Given the description of an element on the screen output the (x, y) to click on. 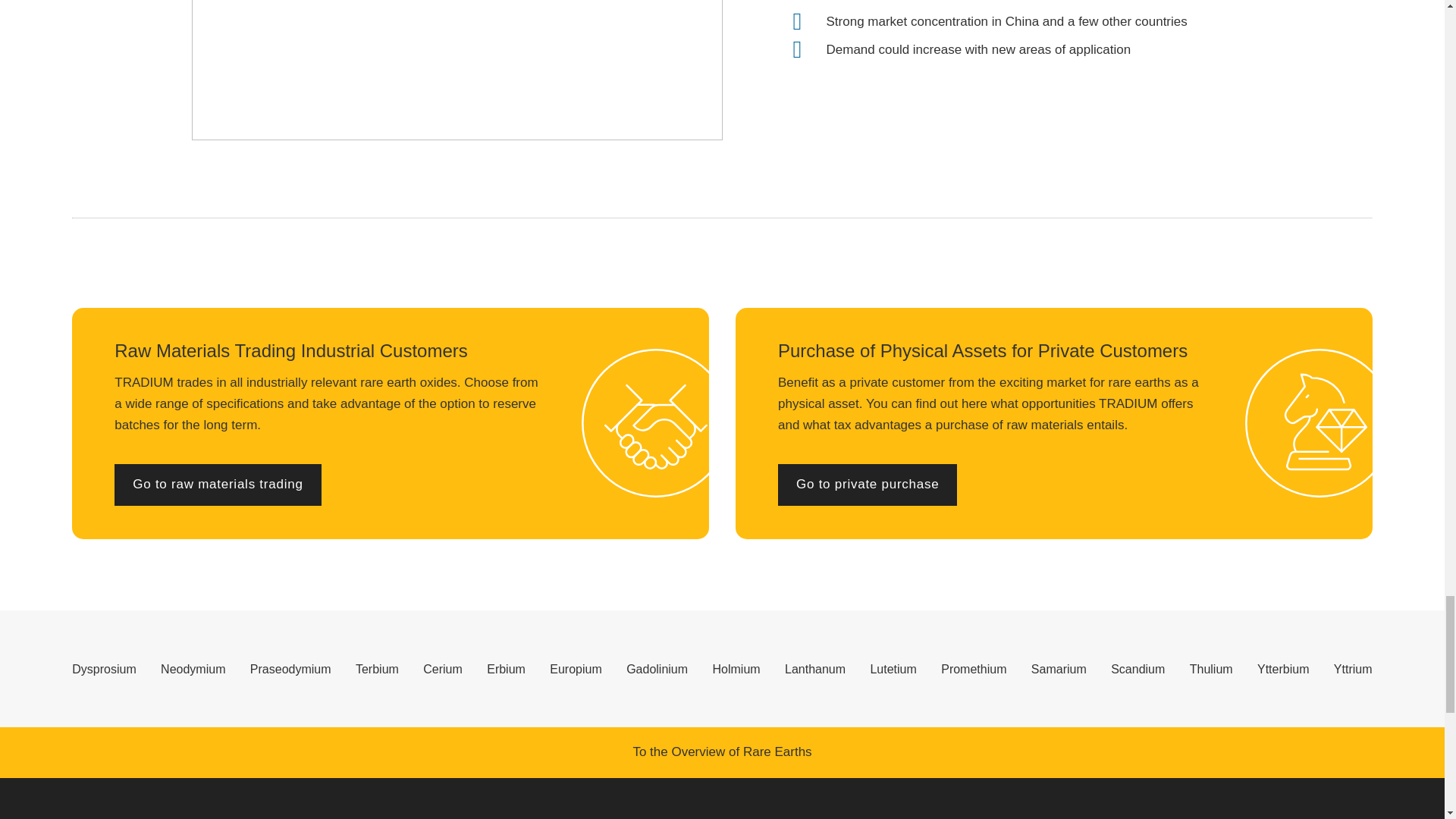
container-abwicklung (456, 70)
